Given the description of an element on the screen output the (x, y) to click on. 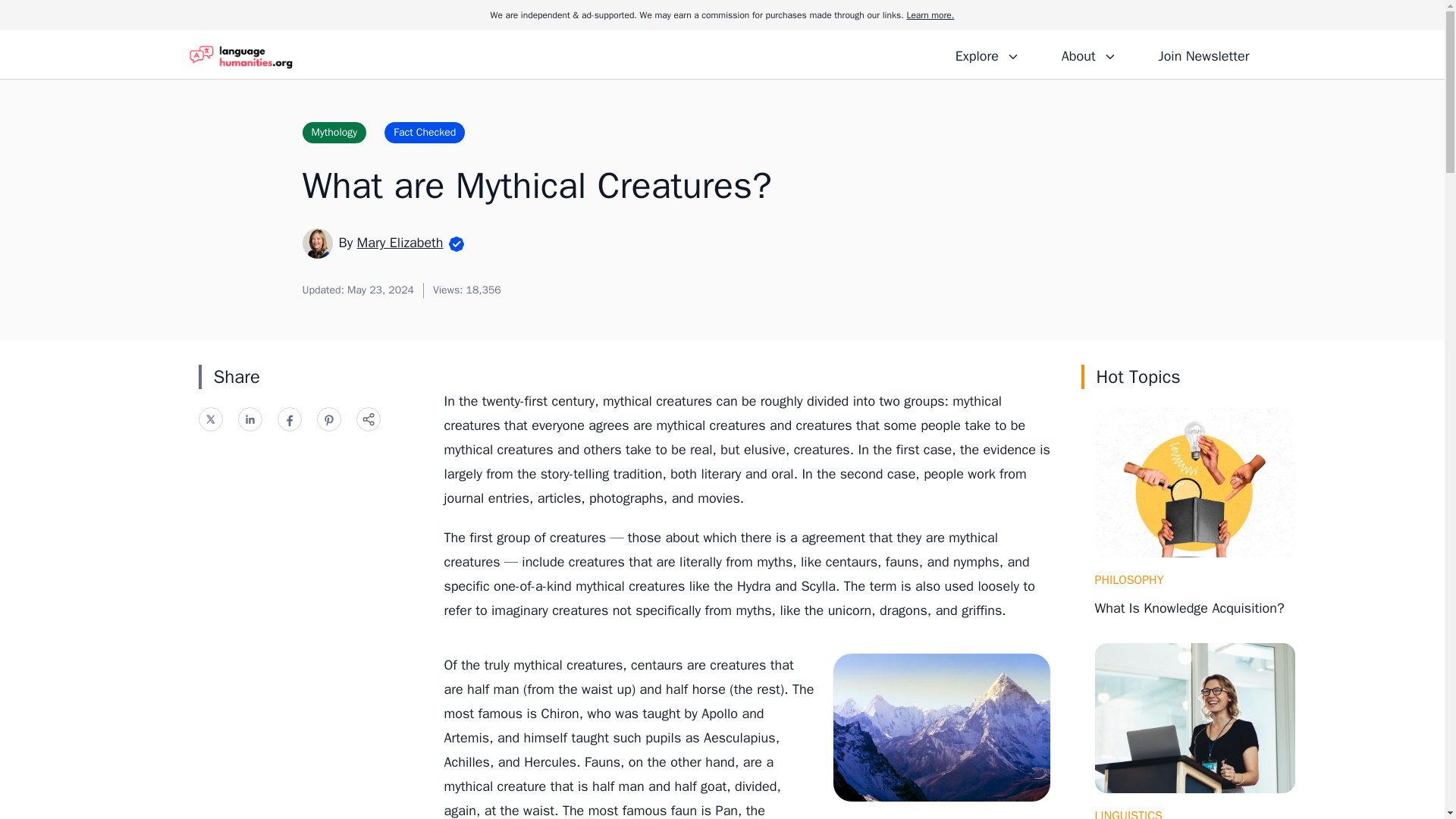
Mary Elizabeth (400, 242)
Join Newsletter (1202, 54)
About (1088, 54)
Mythology (333, 132)
Explore (986, 54)
Fact Checked (424, 132)
Learn more. (929, 15)
